Given the description of an element on the screen output the (x, y) to click on. 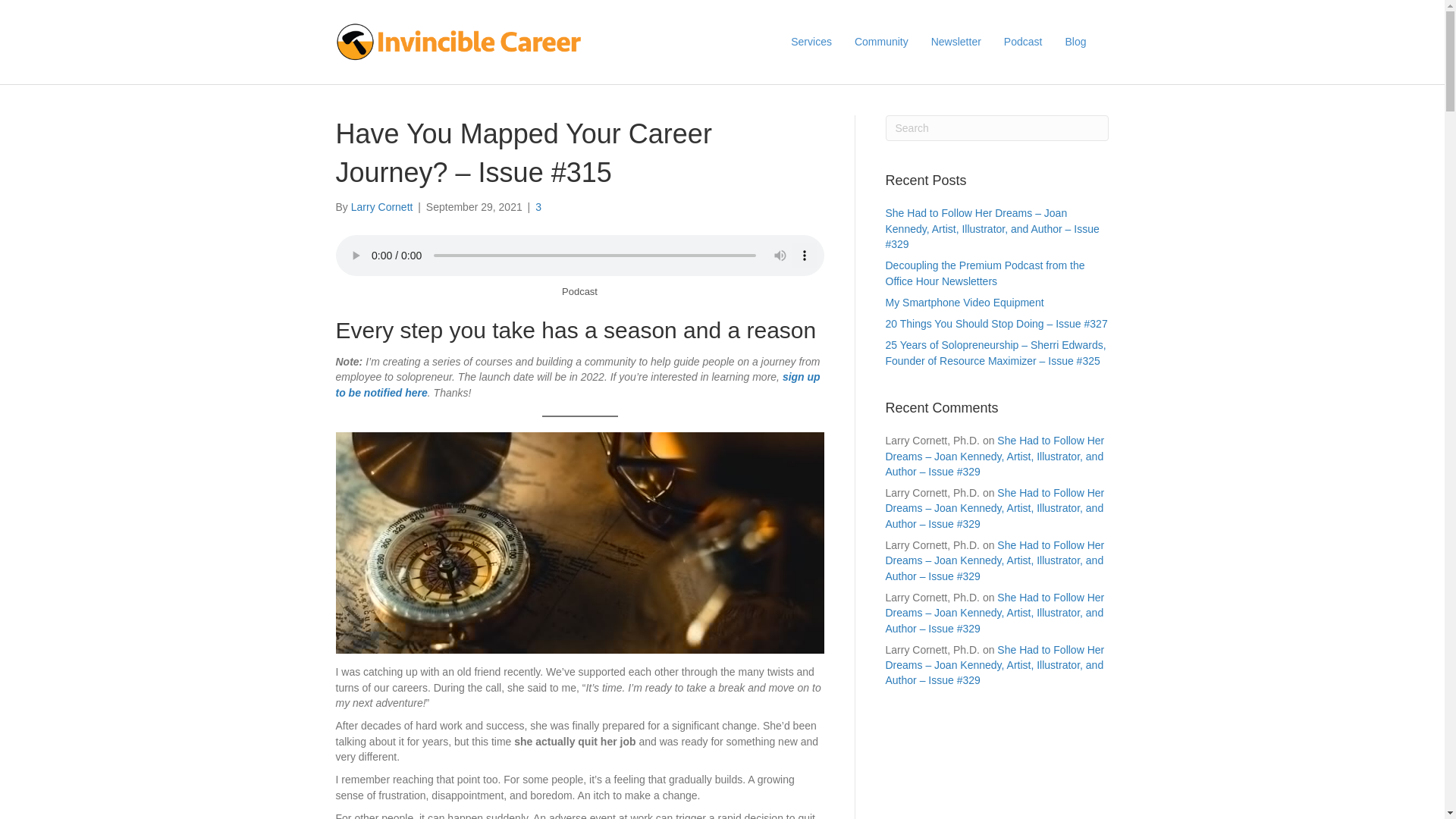
Larry Cornett (381, 206)
Services (810, 42)
Newsletter (956, 42)
Blog (1074, 42)
Podcast (1023, 42)
Type and press Enter to search. (997, 127)
sign up to be notified here (576, 384)
Community (881, 42)
